Given the description of an element on the screen output the (x, y) to click on. 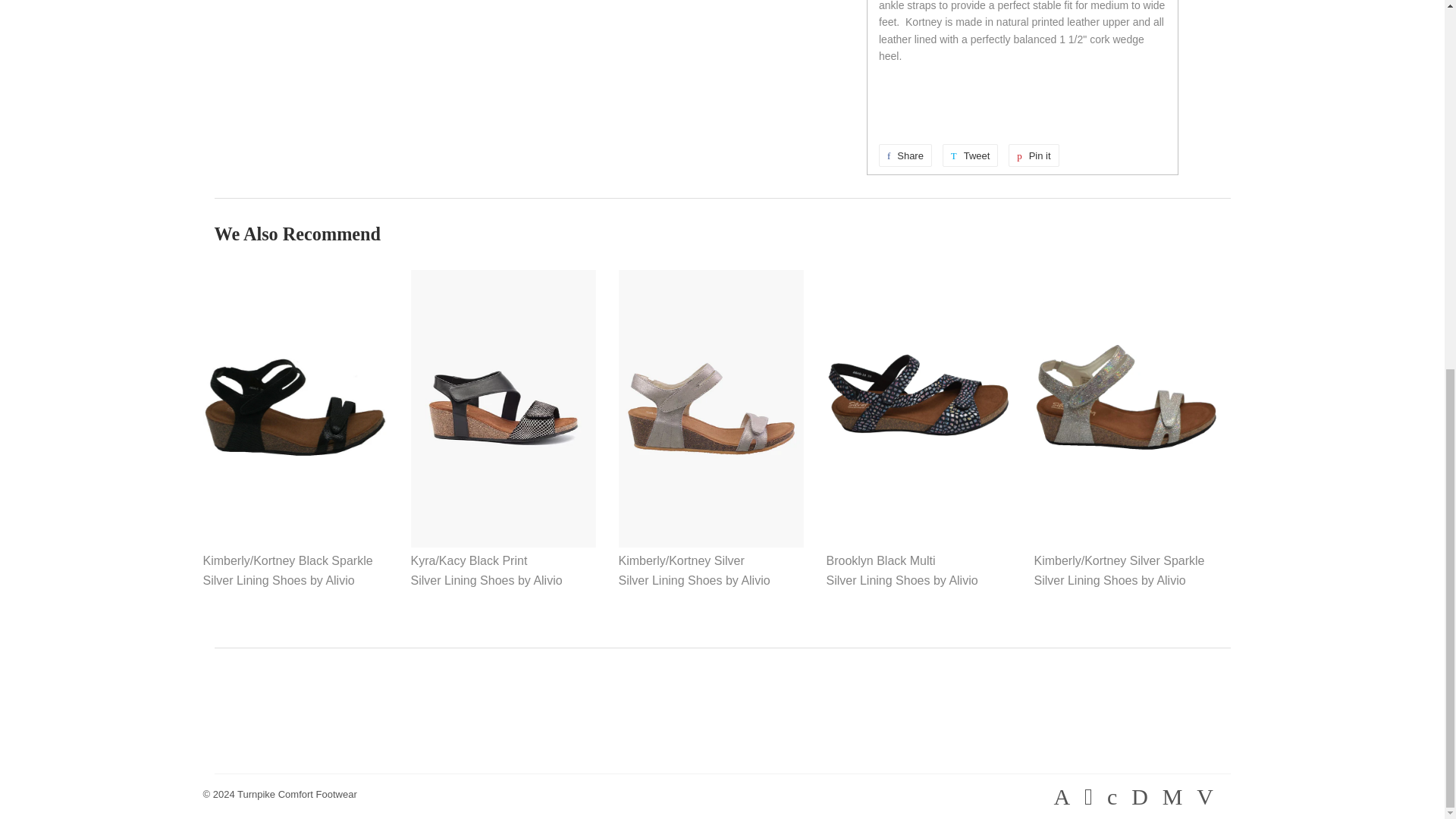
Tweet on Twitter (905, 155)
Turnpike Comfort Footwear (970, 155)
Share on Facebook (970, 155)
Pin on Pinterest (296, 794)
